Given the description of an element on the screen output the (x, y) to click on. 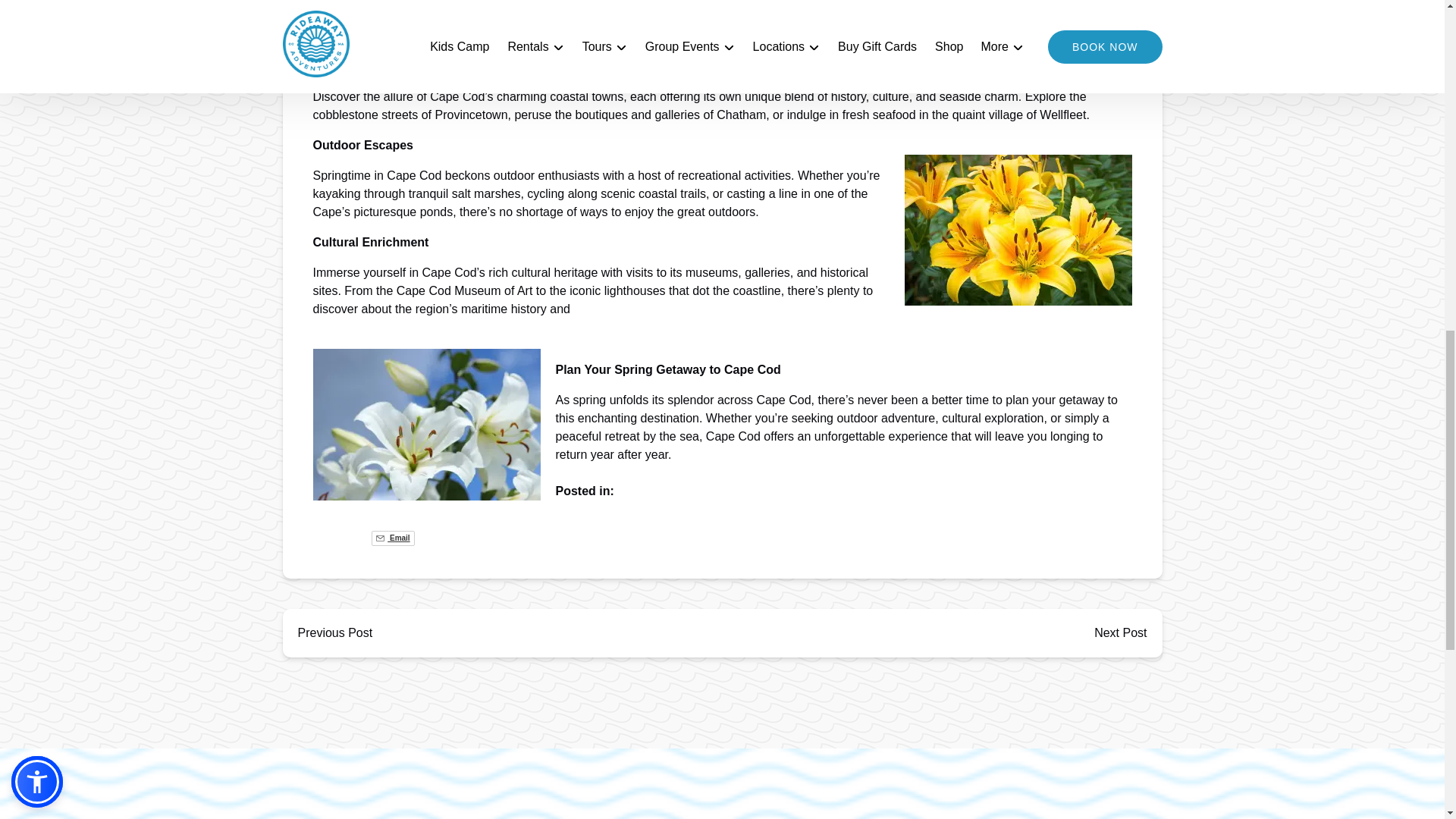
FareHarbor (1342, 64)
